Given the description of an element on the screen output the (x, y) to click on. 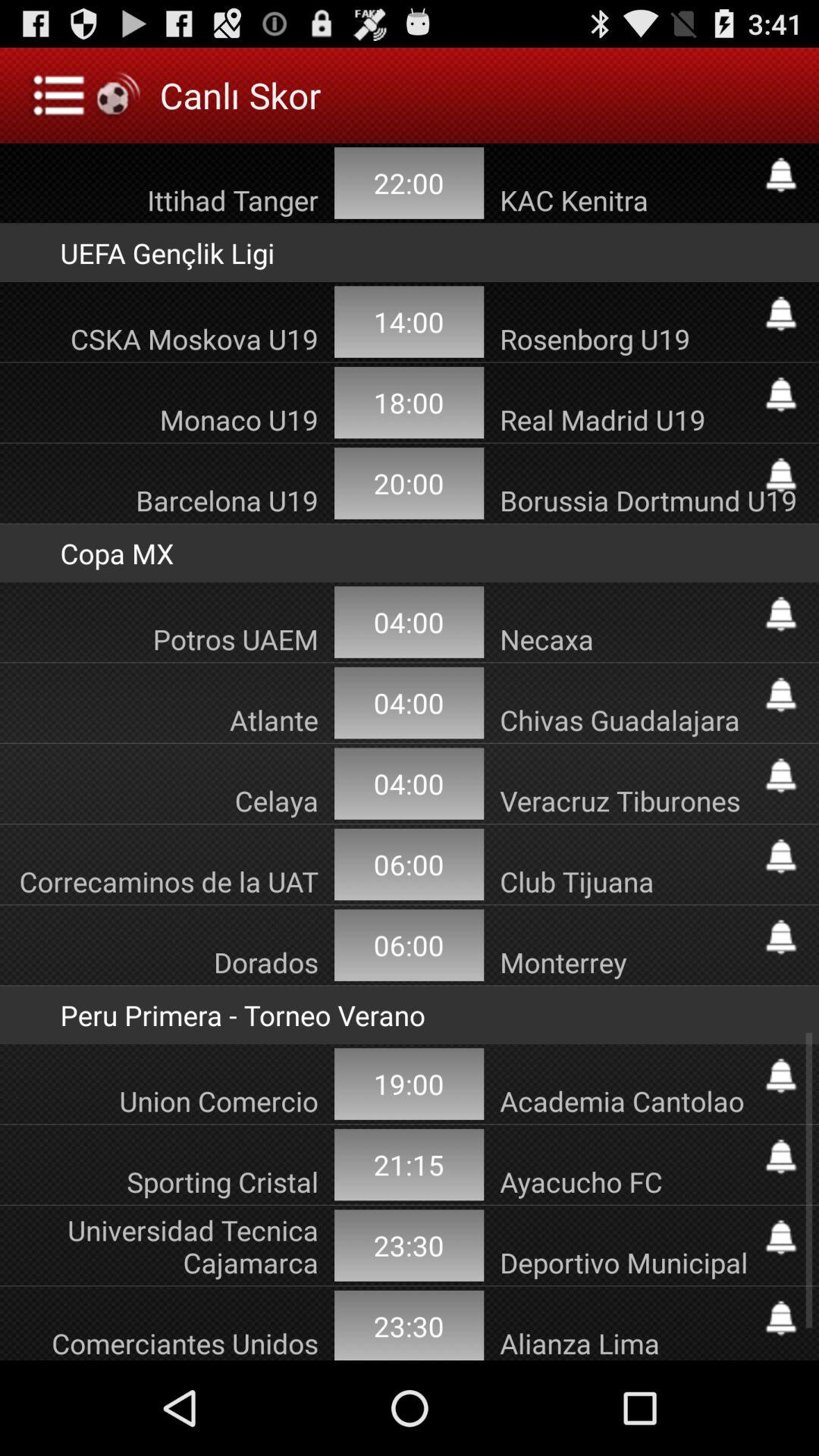
toggle alert (780, 856)
